Given the description of an element on the screen output the (x, y) to click on. 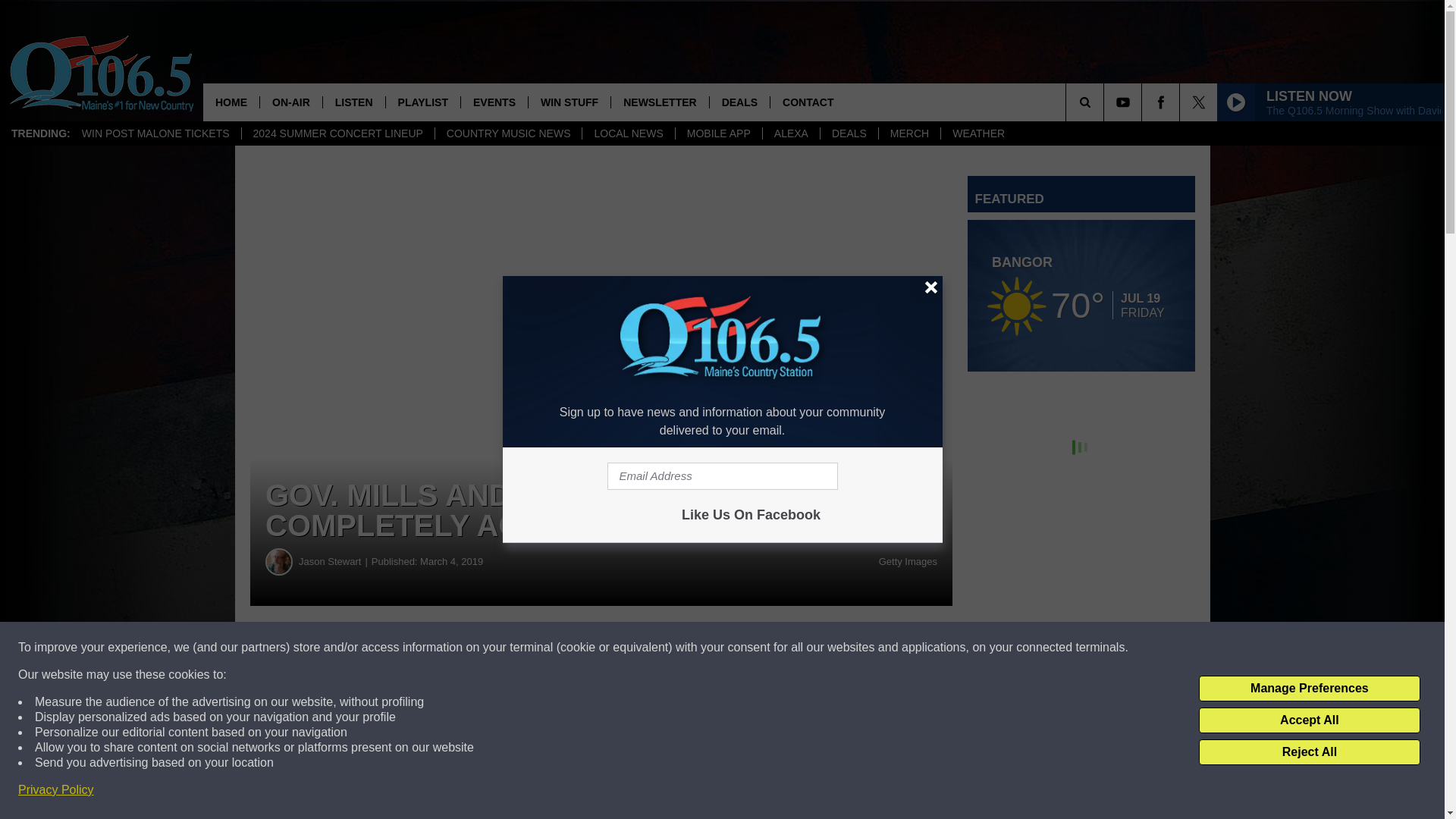
HOME (231, 102)
COUNTRY MUSIC NEWS (507, 133)
Reject All (1309, 751)
Email Address (722, 475)
MERCH (908, 133)
2024 SUMMER CONCERT LINEUP (337, 133)
ALEXA (790, 133)
Accept All (1309, 720)
Share on Facebook (460, 647)
SEARCH (1106, 102)
Privacy Policy (55, 789)
LOCAL NEWS (627, 133)
LISTEN (353, 102)
Bangor Weather (1081, 295)
Manage Preferences (1309, 688)
